Given the description of an element on the screen output the (x, y) to click on. 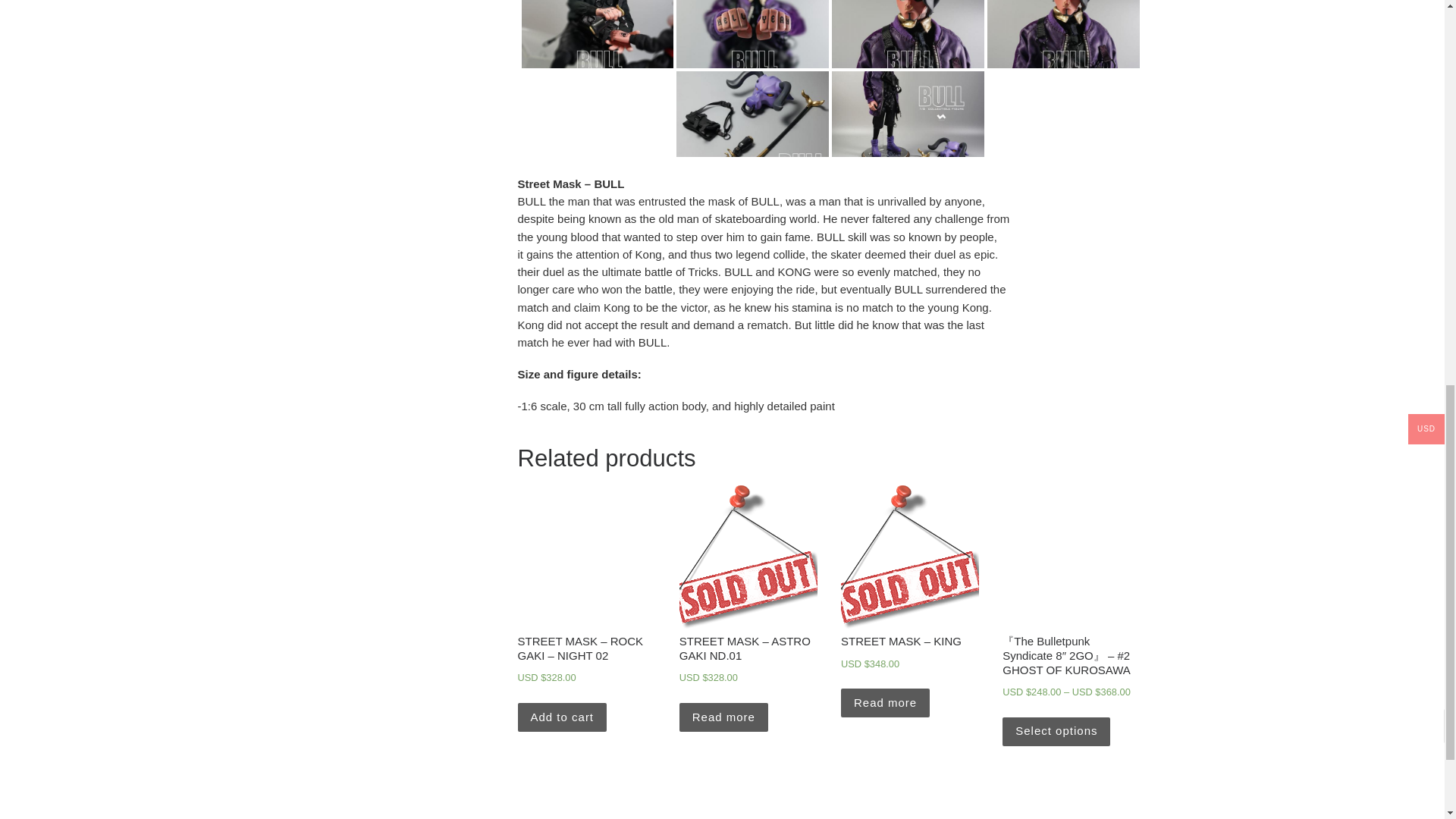
BULL10 (597, 6)
BULL12 (907, 6)
BULL16 (1063, 6)
BULL11 (752, 6)
